Given the description of an element on the screen output the (x, y) to click on. 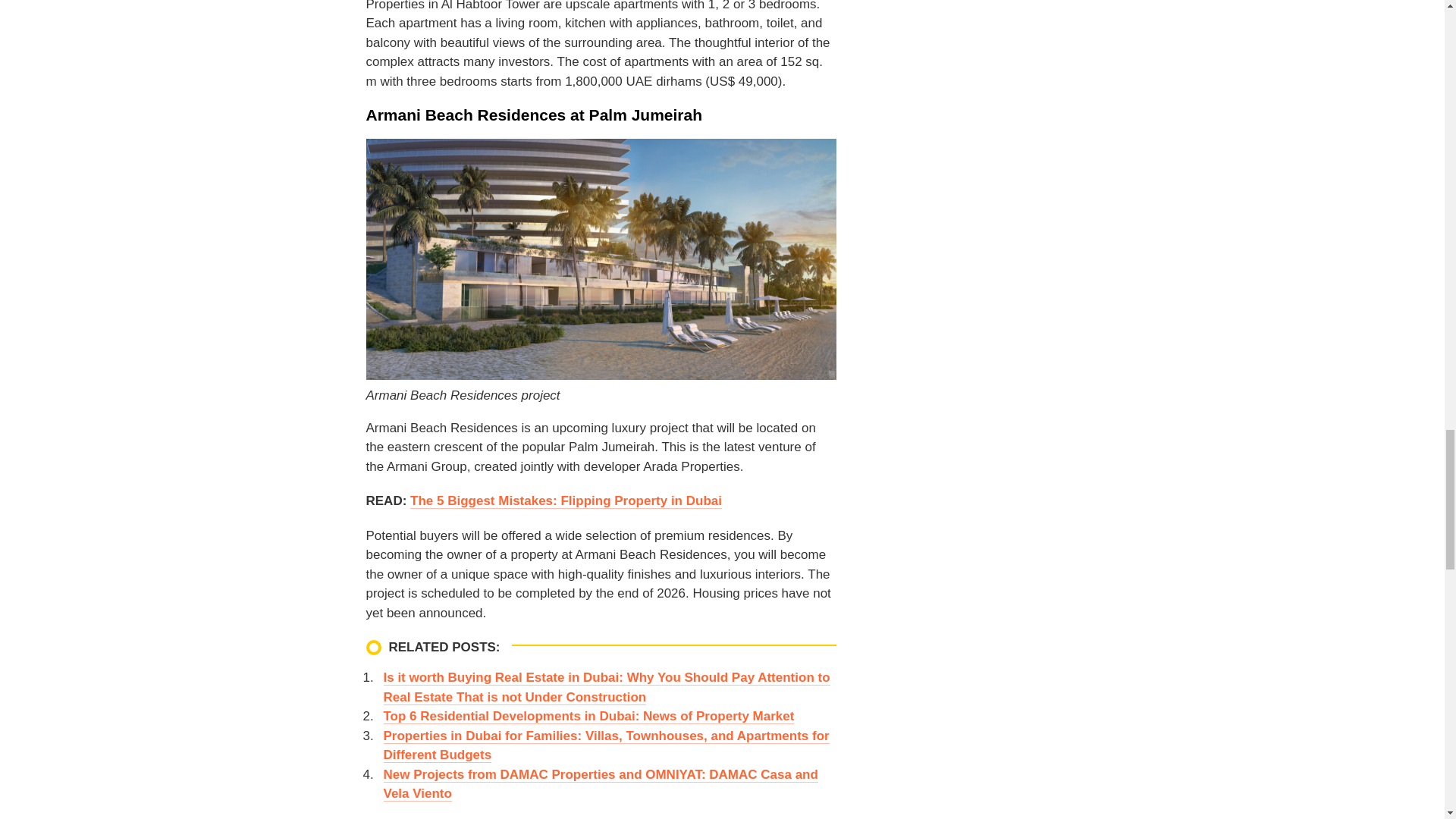
The 5 Biggest Mistakes: Flipping Property in Dubai (566, 500)
